Given the description of an element on the screen output the (x, y) to click on. 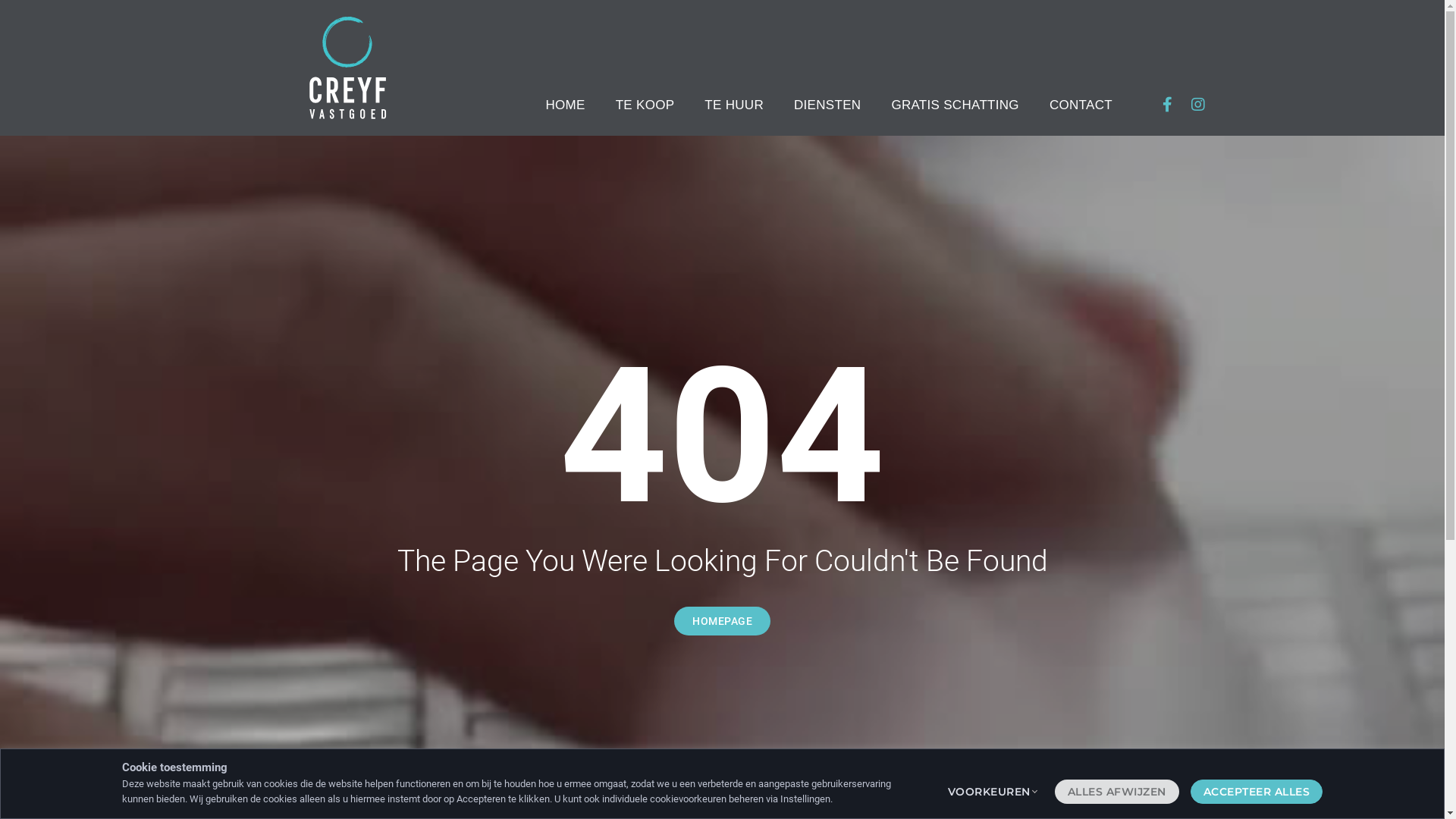
TE HUUR Element type: text (733, 105)
TE KOOP Element type: text (645, 105)
CONTACT Element type: text (1080, 105)
ALLES AFWIJZEN Element type: text (1116, 791)
DIENSTEN Element type: text (826, 105)
VOORKEUREN Element type: text (988, 791)
HOMEPAGE Element type: text (722, 620)
HOME Element type: text (564, 105)
ACCEPTEER ALLES Element type: text (1256, 791)
GRATIS SCHATTING Element type: text (954, 105)
